Given the description of an element on the screen output the (x, y) to click on. 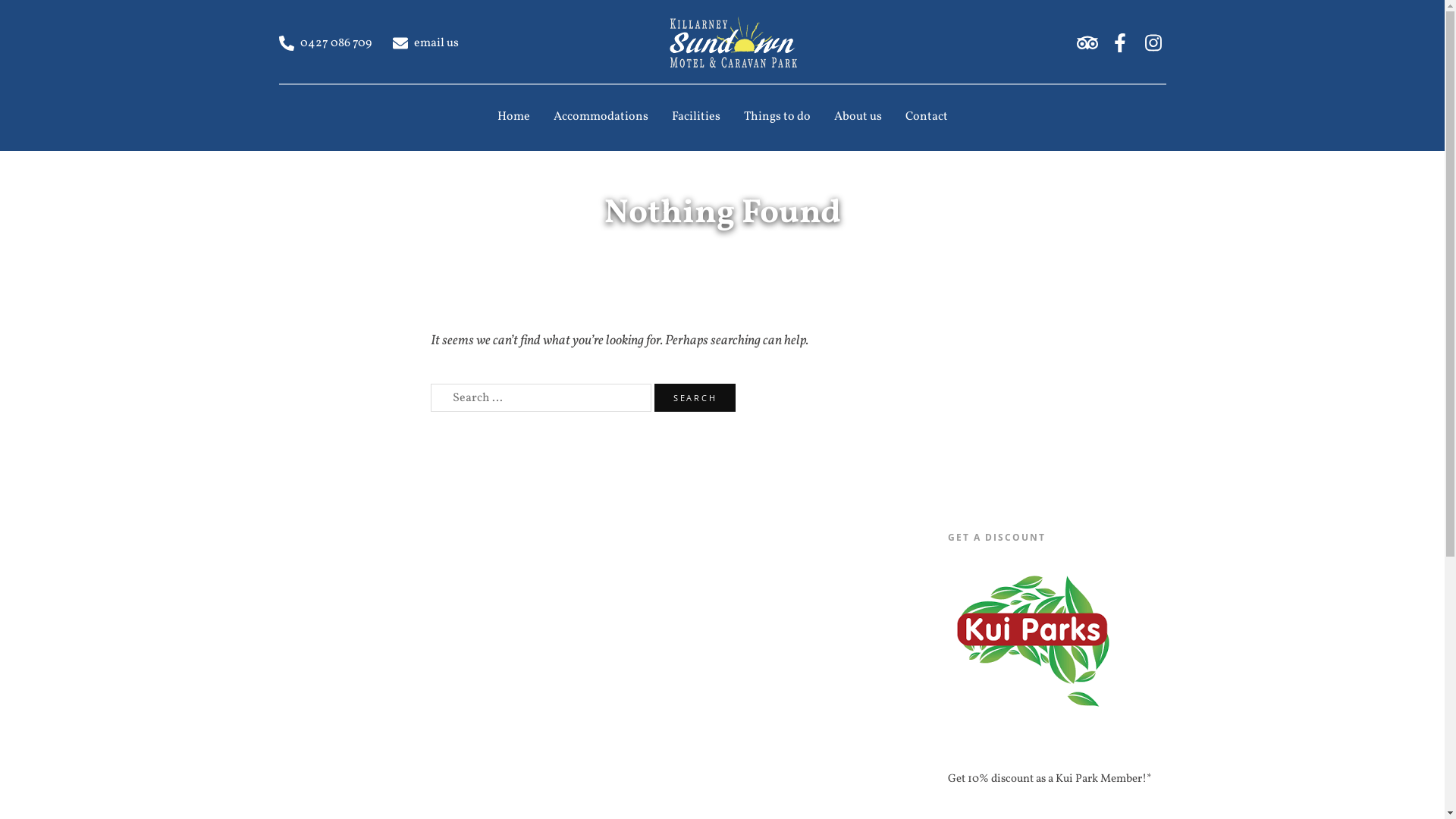
About us Element type: text (857, 117)
Social item Element type: hover (1087, 42)
Home Element type: text (513, 117)
Social item Element type: hover (1152, 42)
Accommodations Element type: text (600, 117)
Search Element type: text (694, 397)
0427 086 709 Element type: text (325, 42)
Social item Element type: hover (1119, 42)
Things to do Element type: text (776, 117)
Contact Element type: text (926, 117)
email us Element type: text (425, 42)
Facilities Element type: text (696, 117)
